Given the description of an element on the screen output the (x, y) to click on. 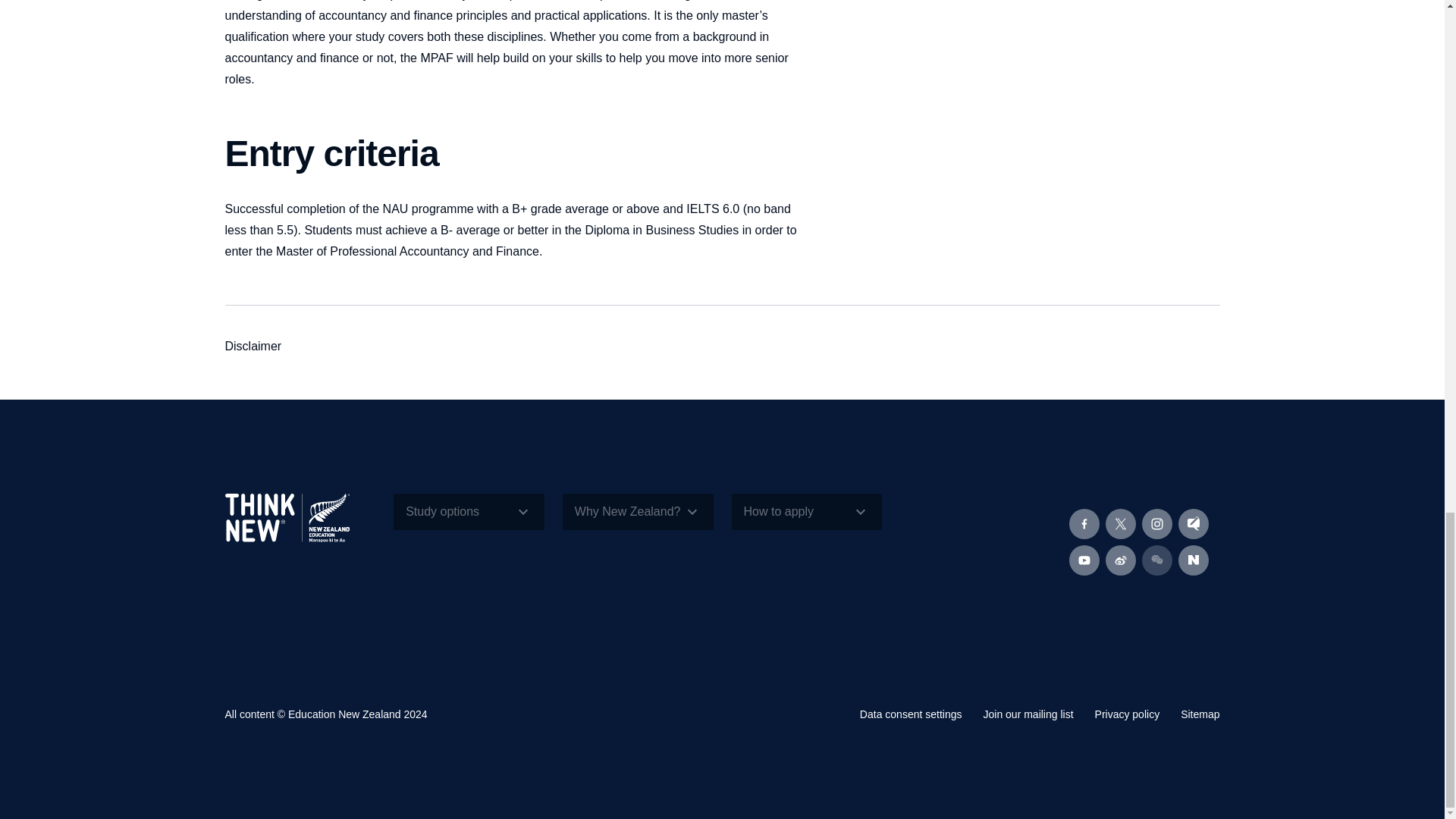
Instagram (1156, 523)
New Zealand Education - Think New Logo (286, 517)
Facebook (1083, 523)
Twitter (1120, 523)
Blog (1192, 523)
Why New Zealand? (637, 511)
How to apply (806, 511)
New Zealand Education - Think New Logo (299, 529)
Link to homepage (299, 529)
Study options (468, 511)
